Given the description of an element on the screen output the (x, y) to click on. 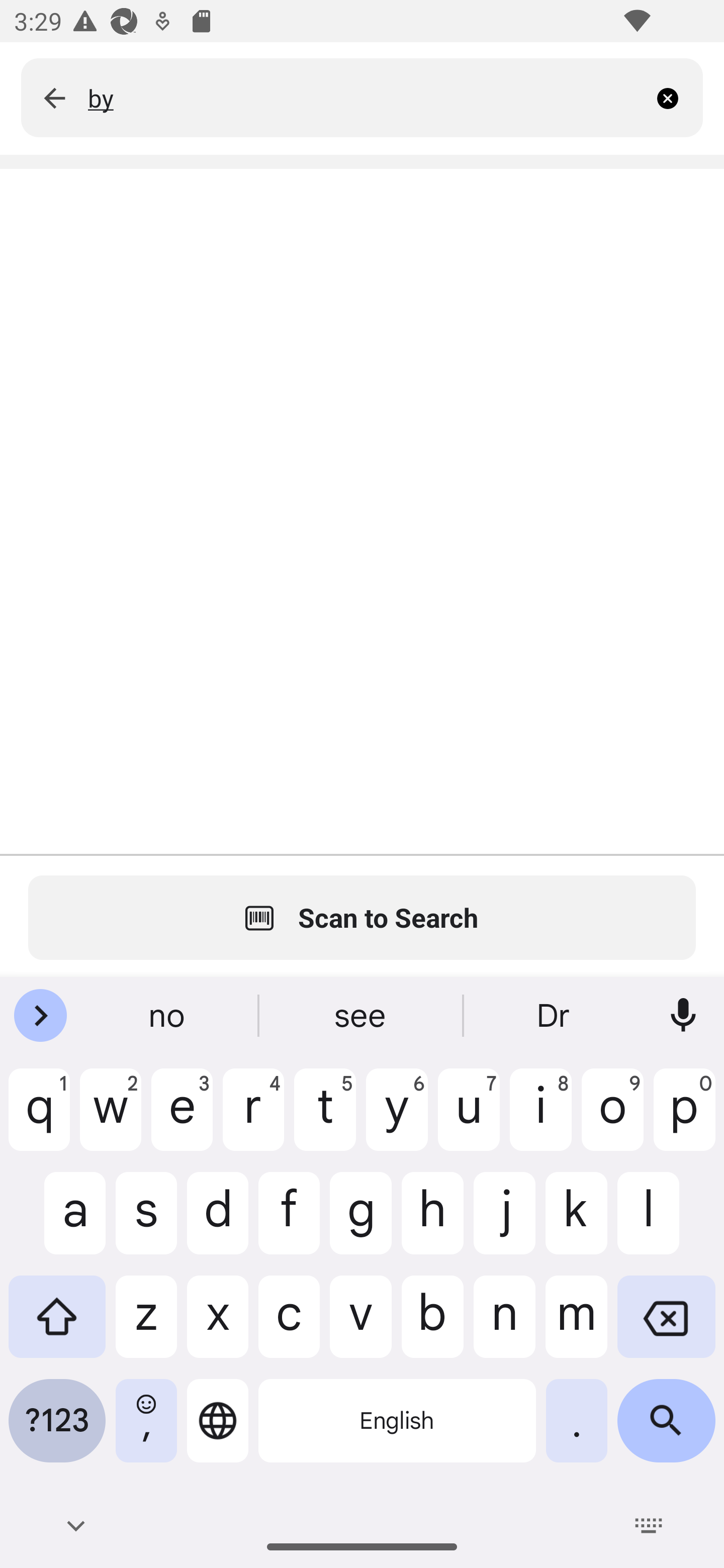
 (54, 97)
by Text input field (367, 97)
Clear search bar text  (674, 97)
